Given the description of an element on the screen output the (x, y) to click on. 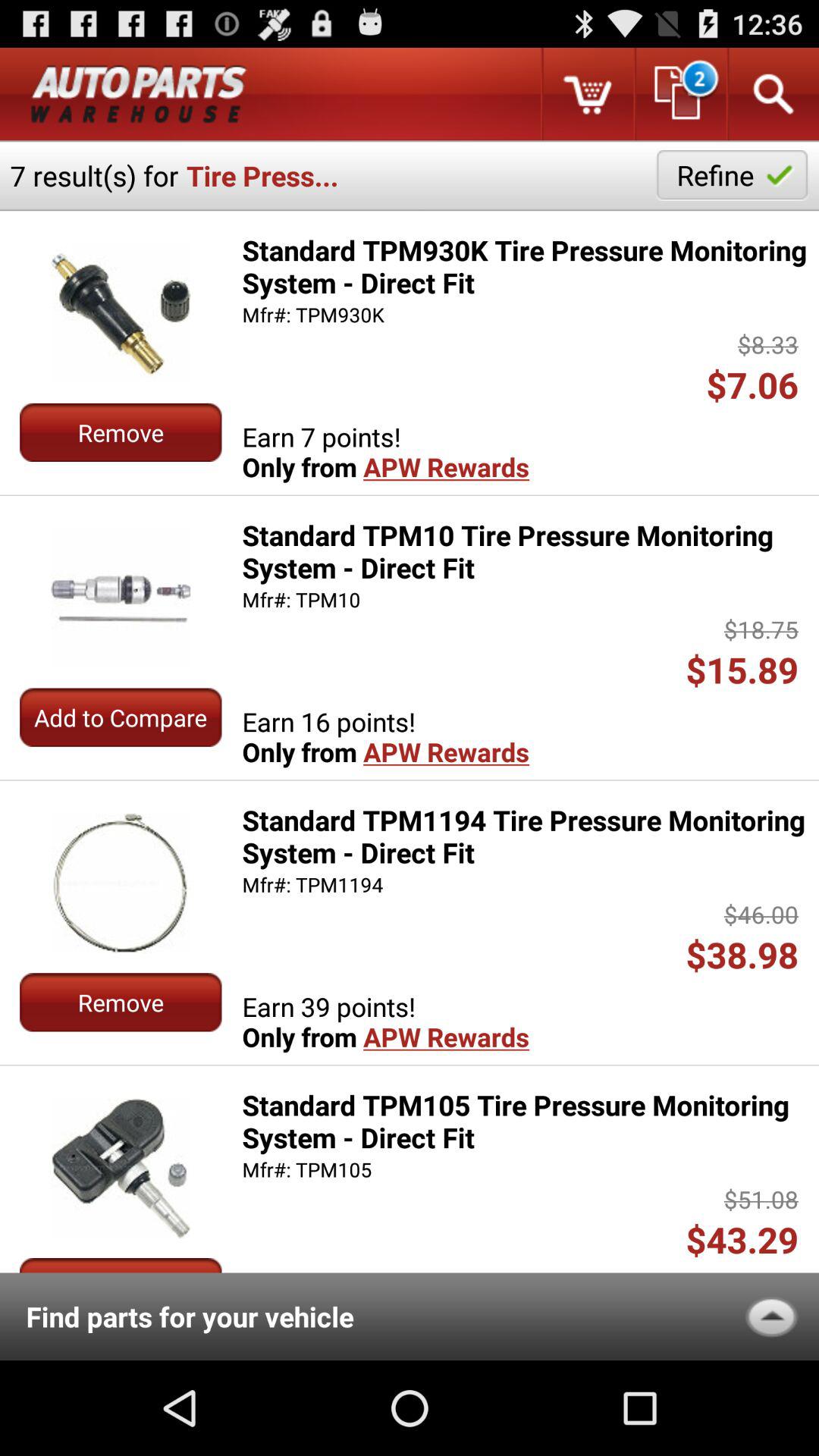
advertisement (138, 93)
